Given the description of an element on the screen output the (x, y) to click on. 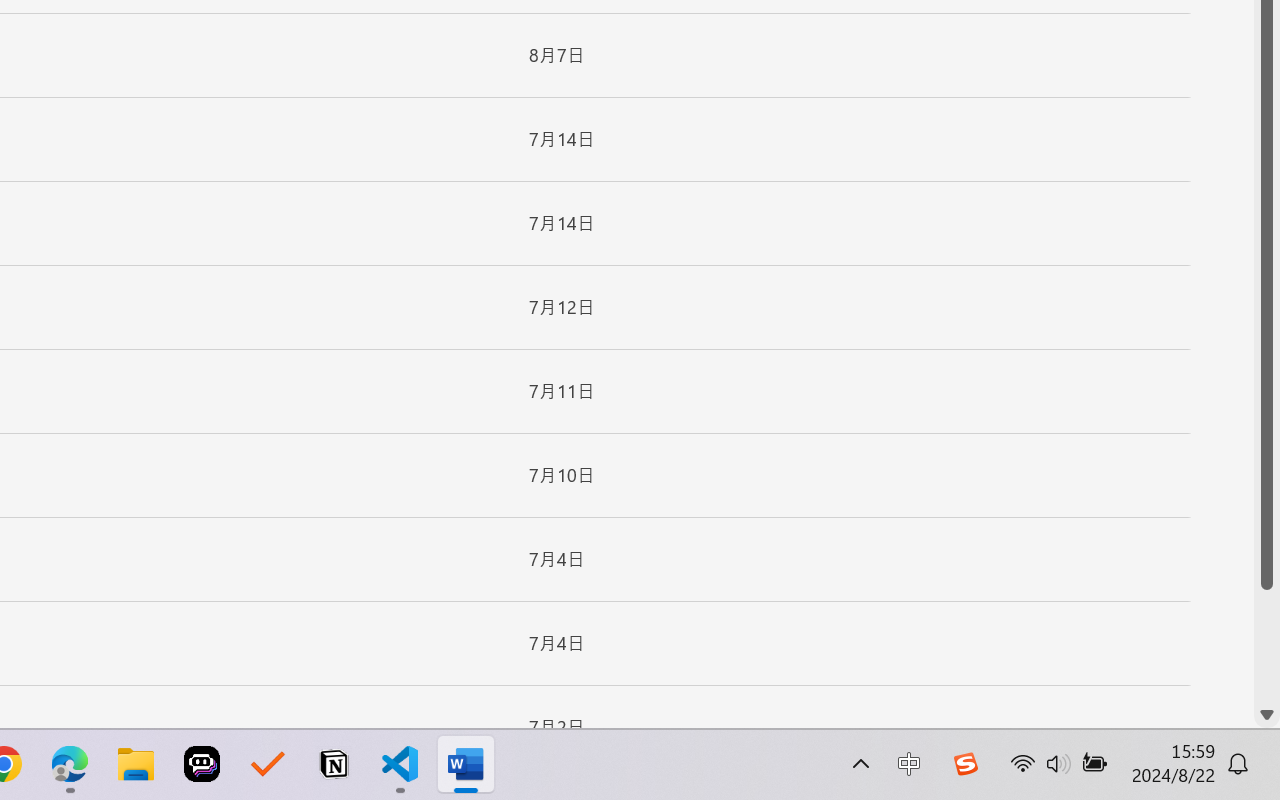
Class: Image (965, 764)
Page down (1267, 646)
Line down (1267, 715)
Pin this item to the list (480, 727)
